Given the description of an element on the screen output the (x, y) to click on. 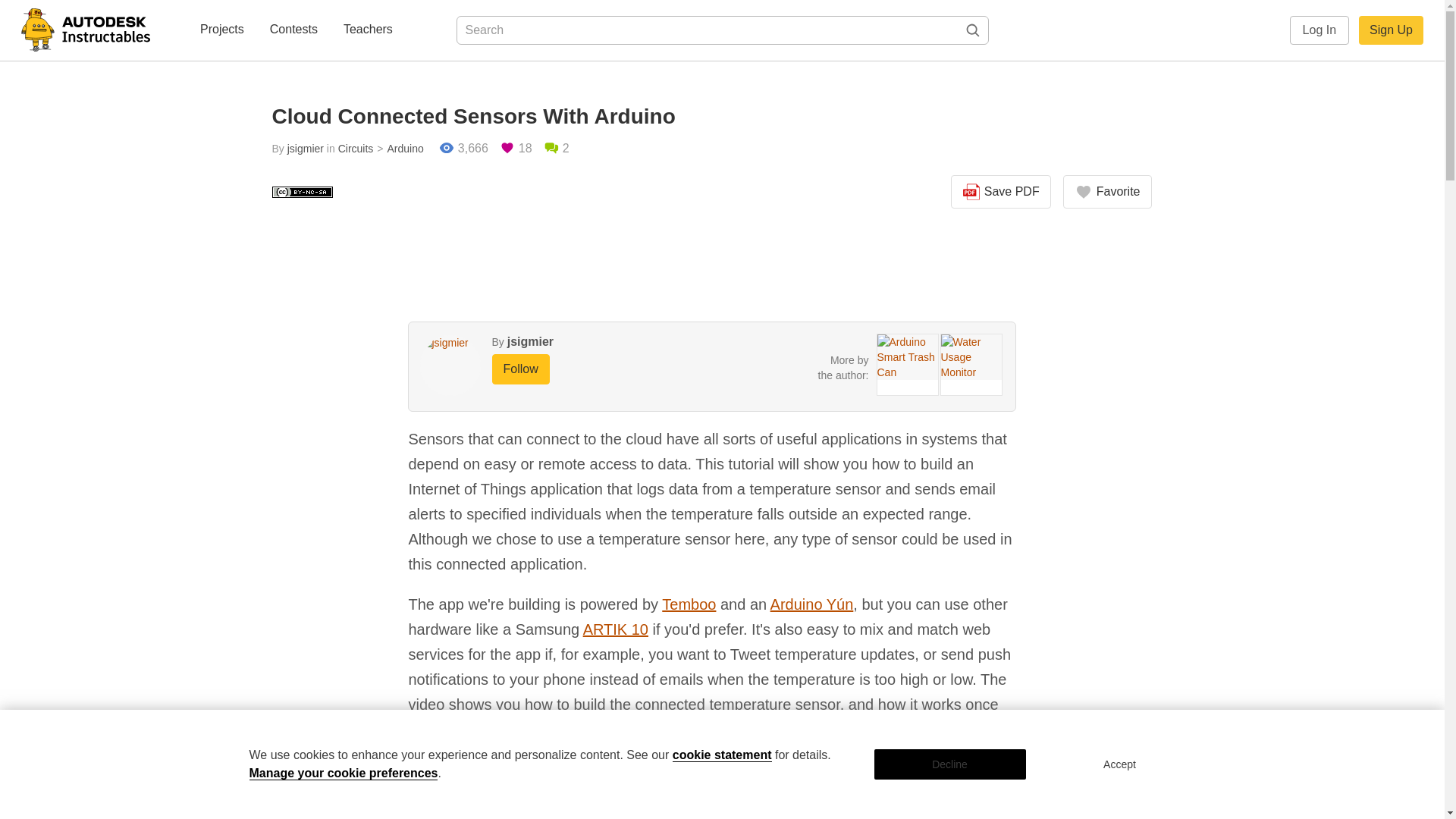
jsigmier (529, 341)
Arduino (397, 148)
More by the author: (843, 366)
2 (556, 148)
jsigmier (304, 148)
Save PDF (1000, 191)
Favorite (1106, 191)
Temboo (689, 604)
Projects (221, 30)
Log In (1319, 30)
ARTIK 10 (615, 629)
Circuits (355, 148)
Sign Up (1390, 30)
Teachers (368, 30)
Contests (293, 30)
